Given the description of an element on the screen output the (x, y) to click on. 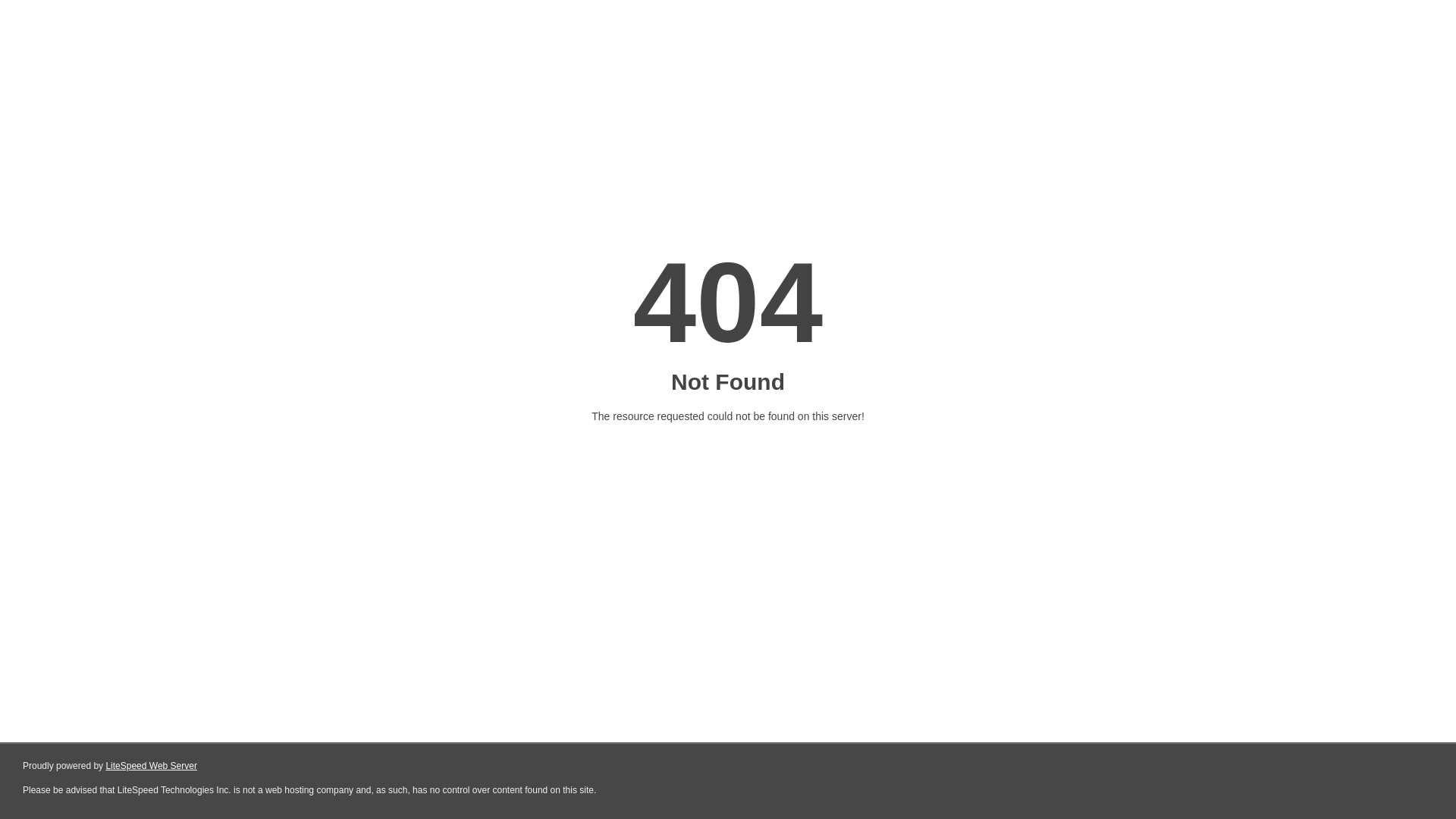
LiteSpeed Web Server Element type: text (151, 765)
